Given the description of an element on the screen output the (x, y) to click on. 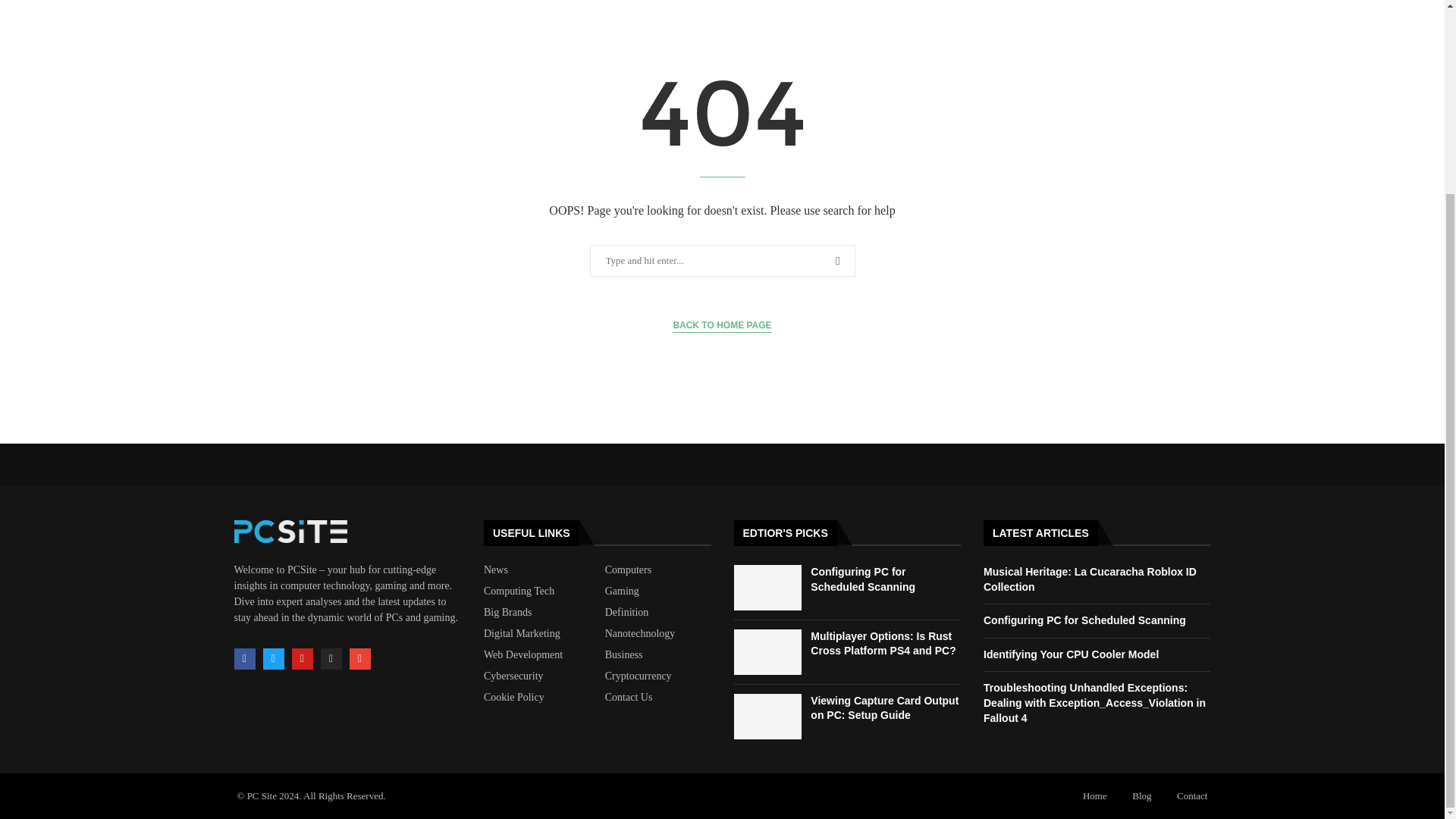
Configuring PC for Scheduled Scanning (767, 587)
Viewing Capture Card Output on PC: Setup Guide (884, 707)
Multiplayer Options: Is Rust Cross Platform PS4 and PC? (767, 651)
Viewing Capture Card Output on PC: Setup Guide (767, 716)
Configuring PC for Scheduled Scanning (862, 578)
Multiplayer Options: Is Rust Cross Platform PS4 and PC? (882, 643)
